Given the description of an element on the screen output the (x, y) to click on. 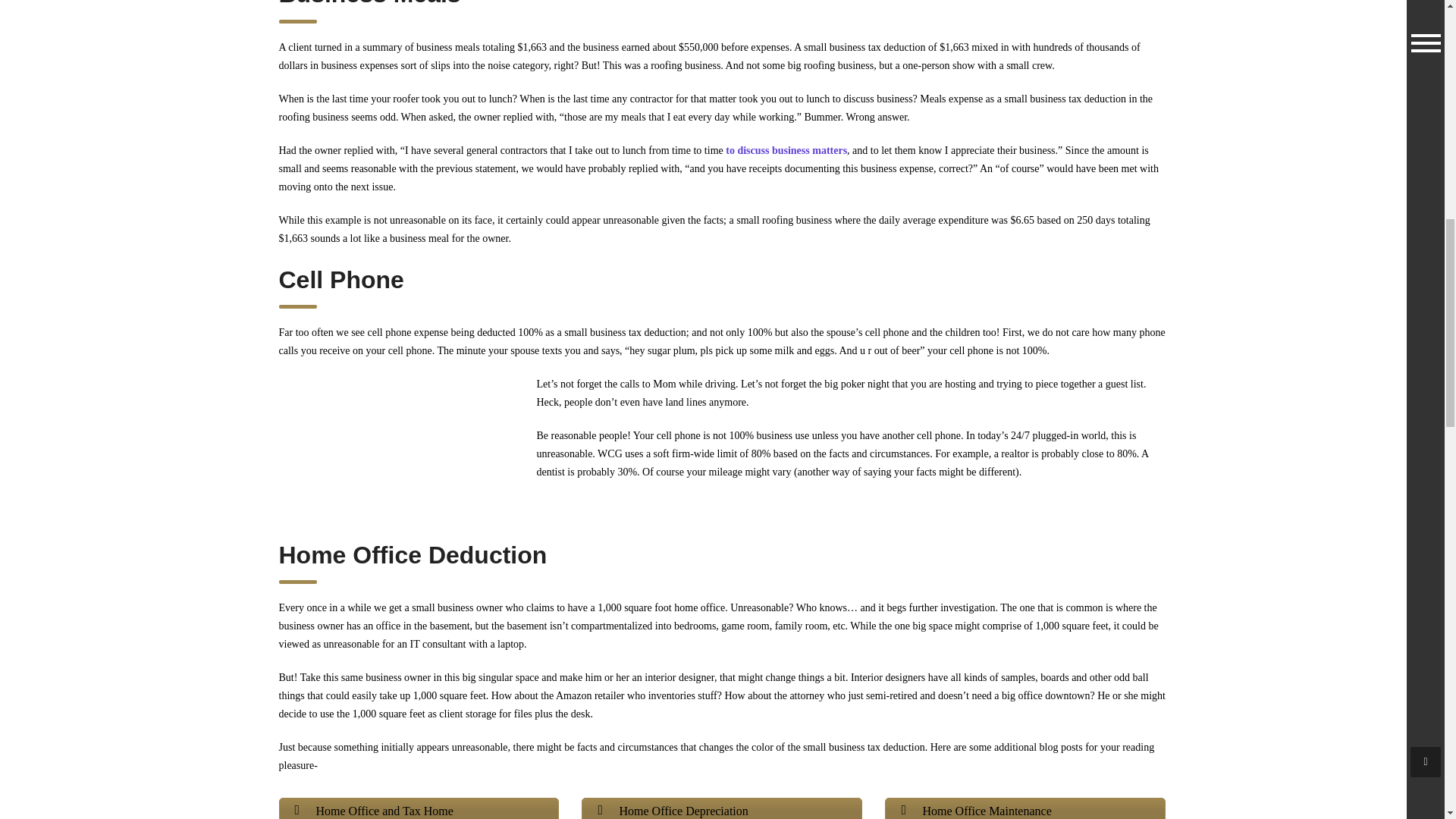
to discuss business matters (786, 150)
Home Office and Tax Home (419, 808)
Home Office Maintenance (1025, 808)
Home Office Depreciation (720, 808)
